Given the description of an element on the screen output the (x, y) to click on. 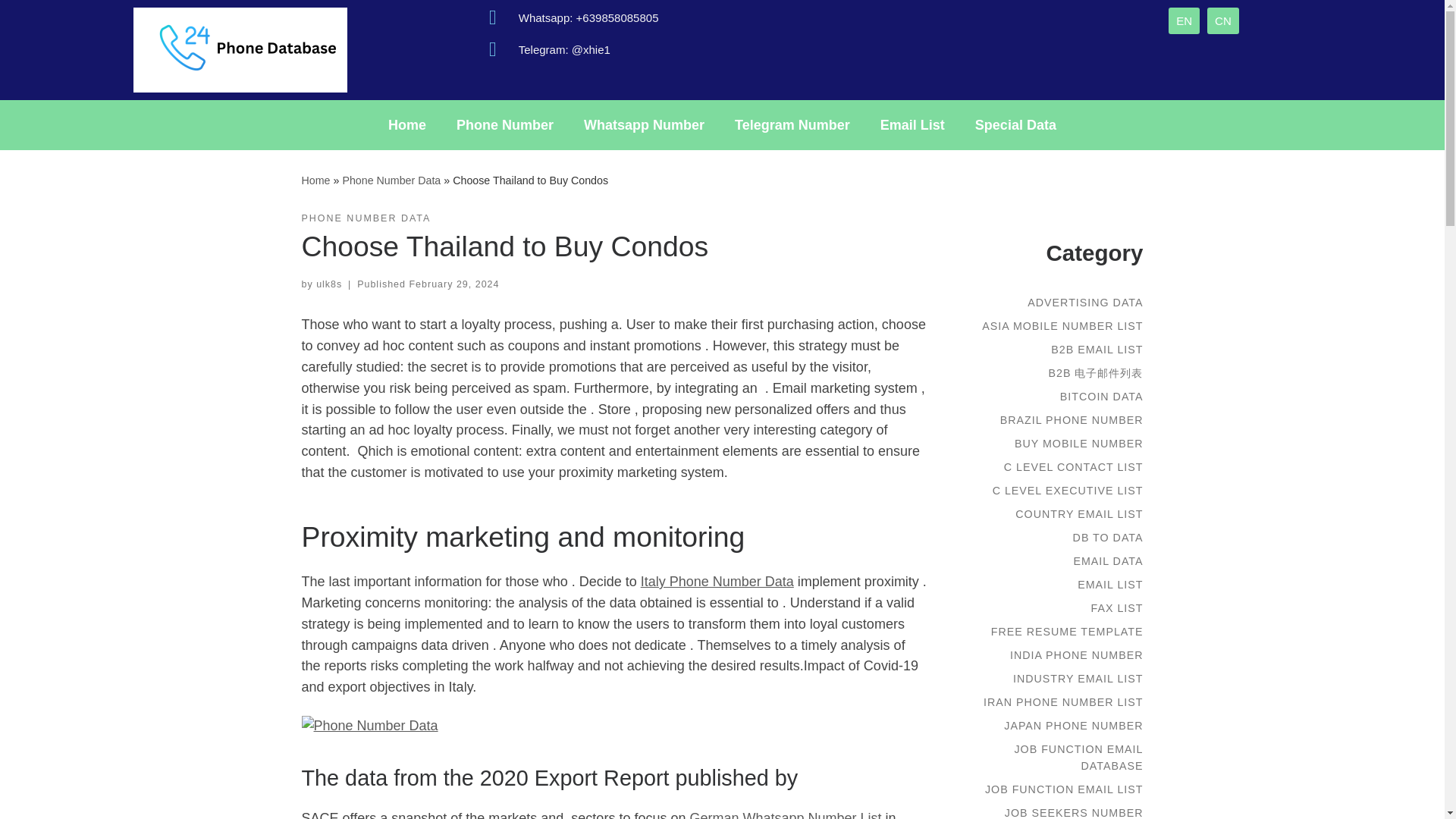
Home (315, 180)
Phone Number Data (391, 180)
PHONE NUMBER DATA (365, 218)
Special Data (1015, 124)
9:13 am (454, 284)
February 29, 2024 (454, 284)
Home (406, 124)
View all posts in Phone Number Data (365, 218)
Italy Phone Number Data (716, 581)
EN (1184, 20)
